Given the description of an element on the screen output the (x, y) to click on. 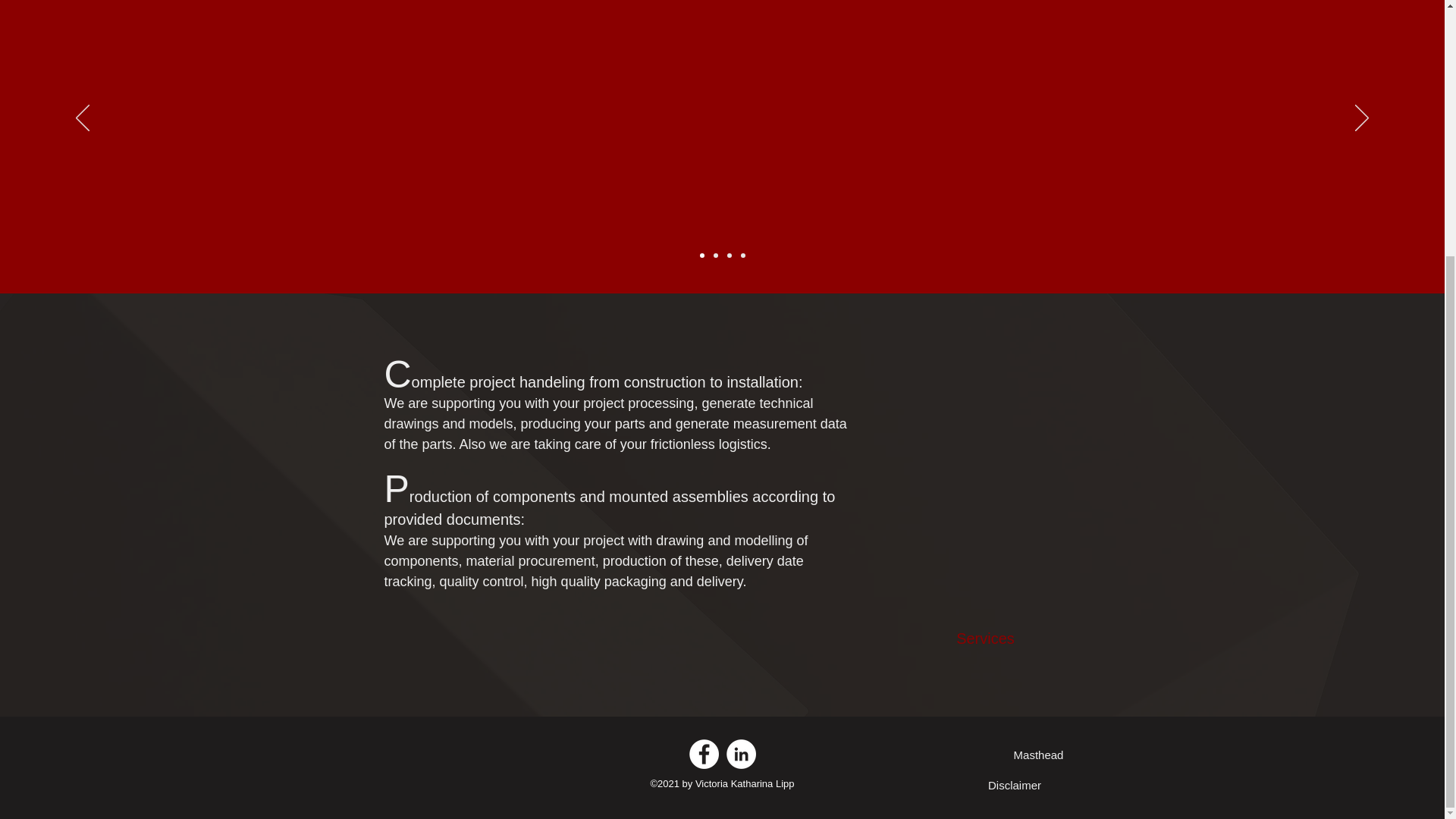
Disclaimer (1014, 784)
Masthead (1038, 754)
Services (984, 638)
